Given the description of an element on the screen output the (x, y) to click on. 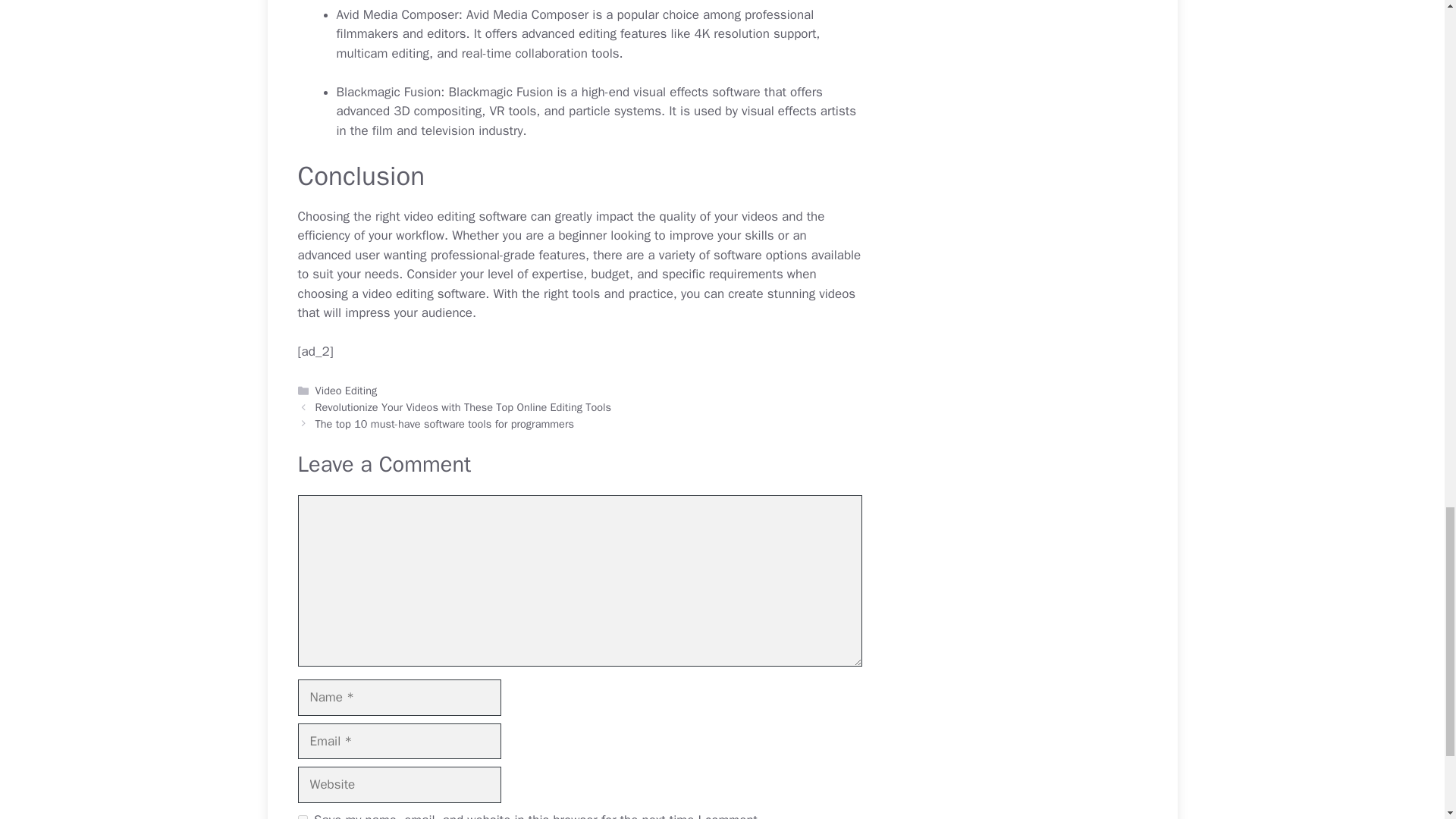
The top 10 must-have software tools for programmers (444, 423)
Video Editing (346, 390)
yes (302, 816)
